Given the description of an element on the screen output the (x, y) to click on. 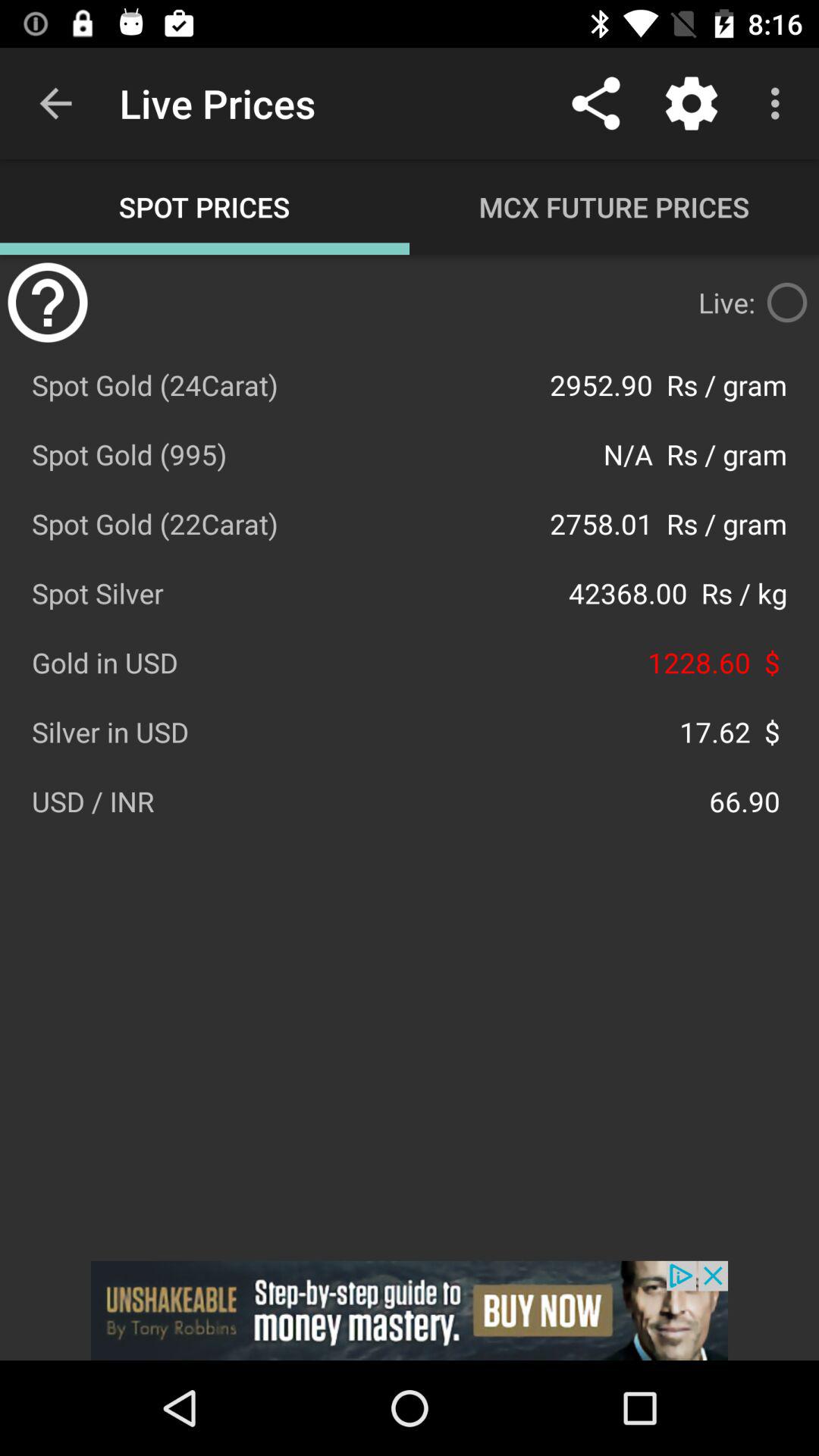
advertisemen link (409, 1310)
